Given the description of an element on the screen output the (x, y) to click on. 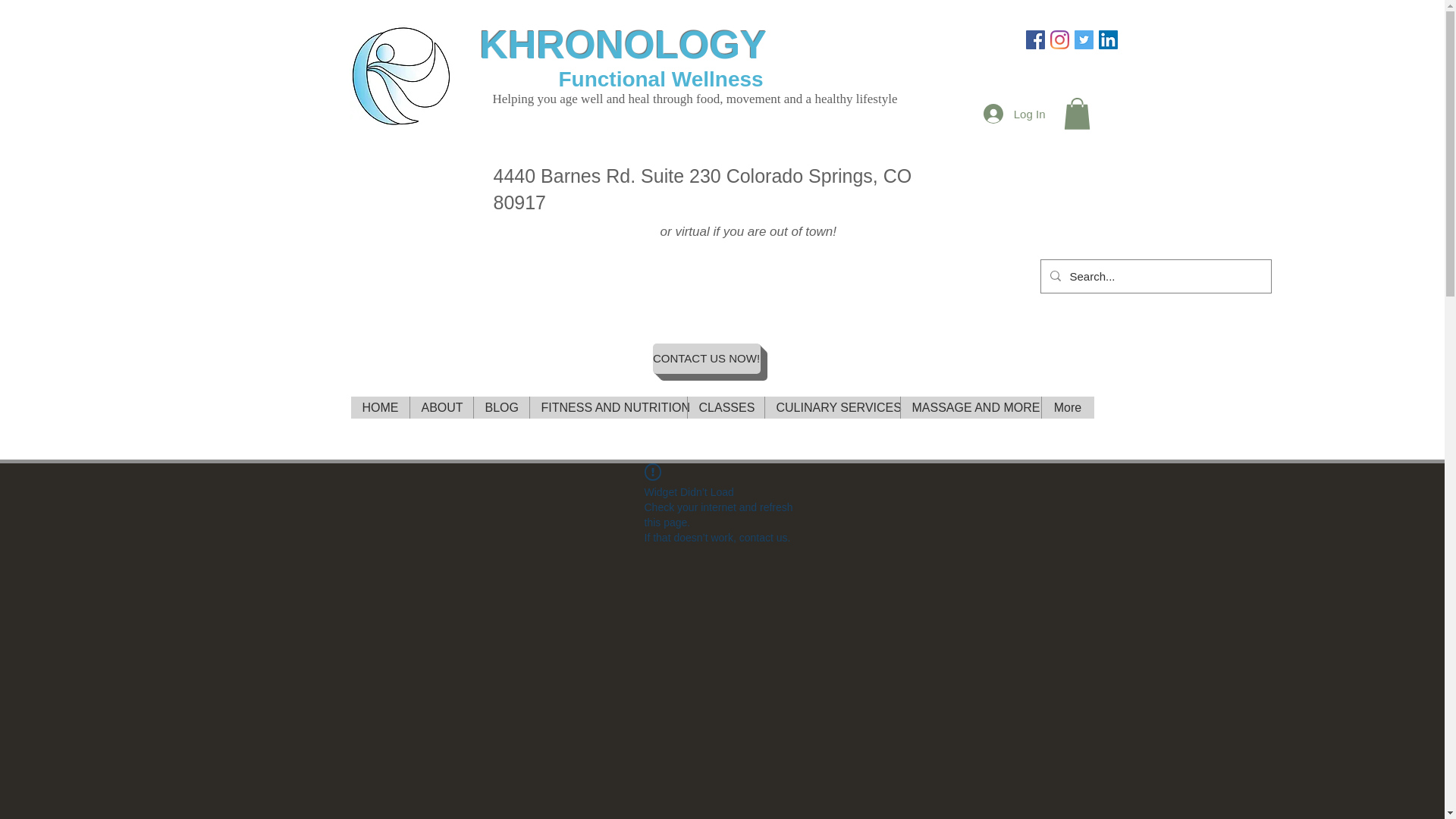
BLOG (501, 407)
MASSAGE AND MORE (970, 407)
HOME (379, 407)
! (653, 471)
CLASSES (725, 407)
CONTACT US NOW! (706, 358)
ABOUT (441, 407)
CULINARY SERVICES (831, 407)
KHRONOLOGY (622, 44)
Log In (1014, 113)
FITNESS AND NUTRITION (608, 407)
